Given the description of an element on the screen output the (x, y) to click on. 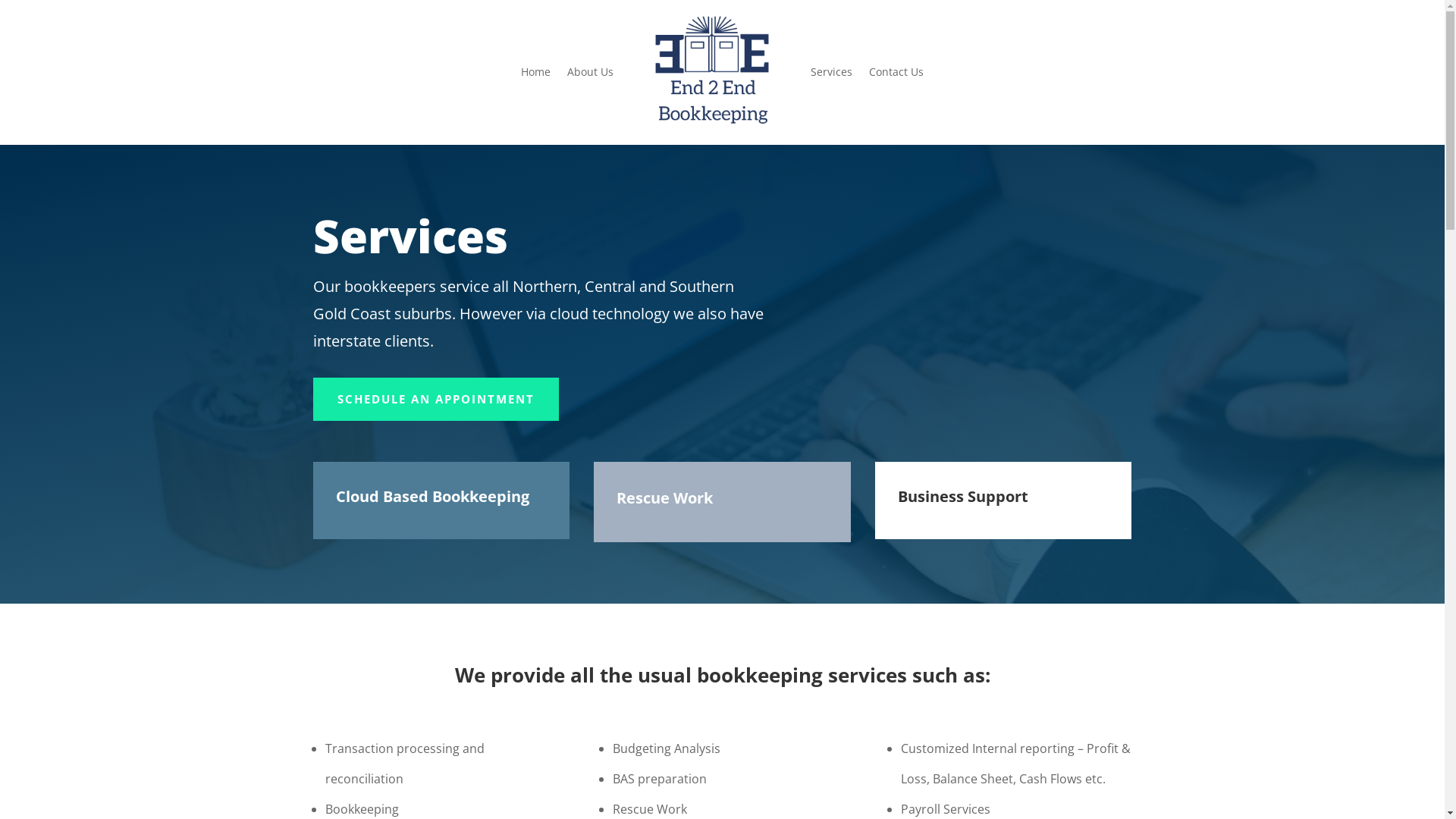
SCHEDULE AN APPOINTMENT Element type: text (435, 399)
